Given the description of an element on the screen output the (x, y) to click on. 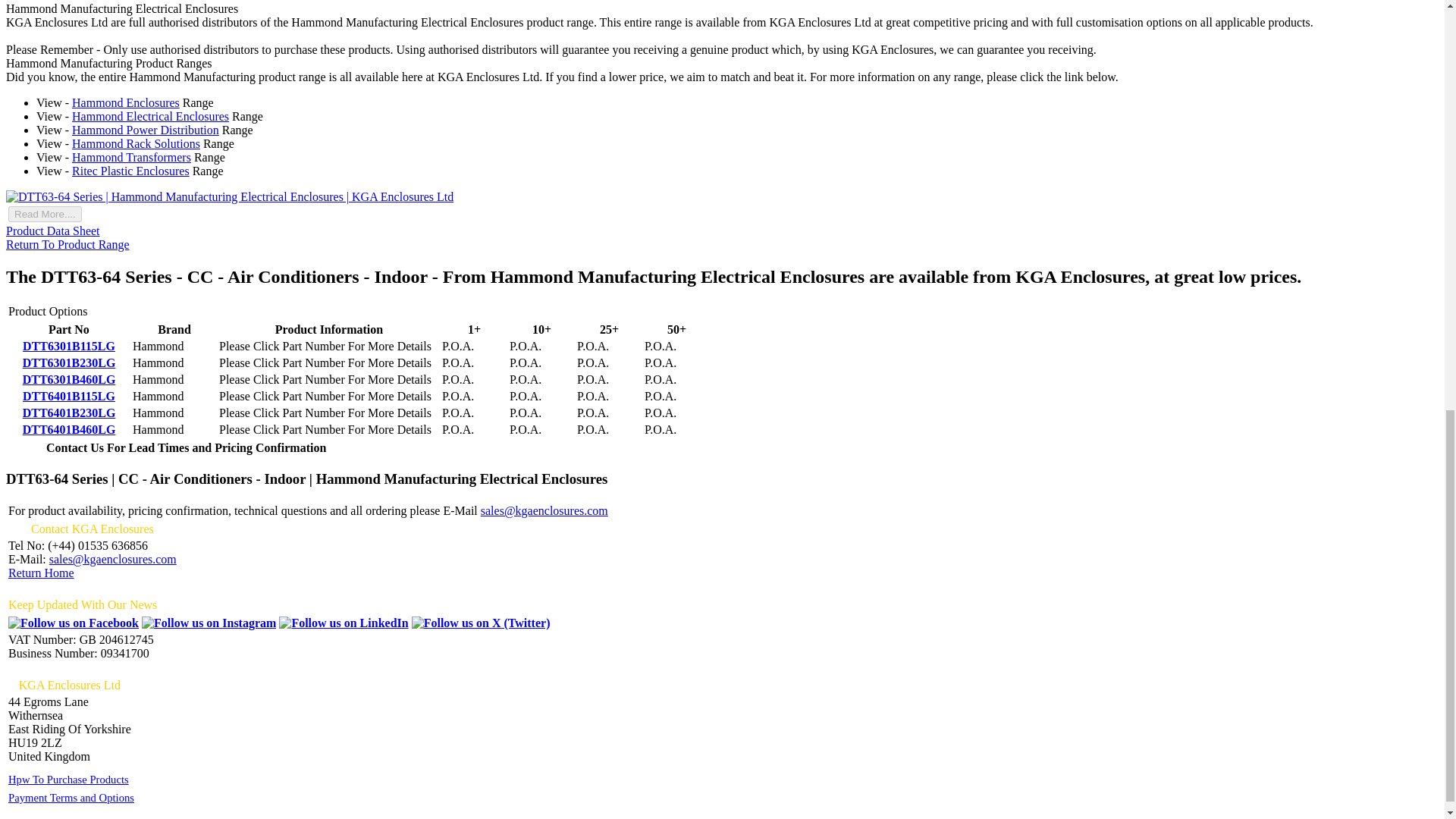
Hammond Electrical Enclosures (149, 115)
Hammond Rack Solutions (135, 143)
Hammond Transformers (130, 156)
Hammond Power Distribution (145, 129)
Hammond Enclosures (125, 102)
